Given the description of an element on the screen output the (x, y) to click on. 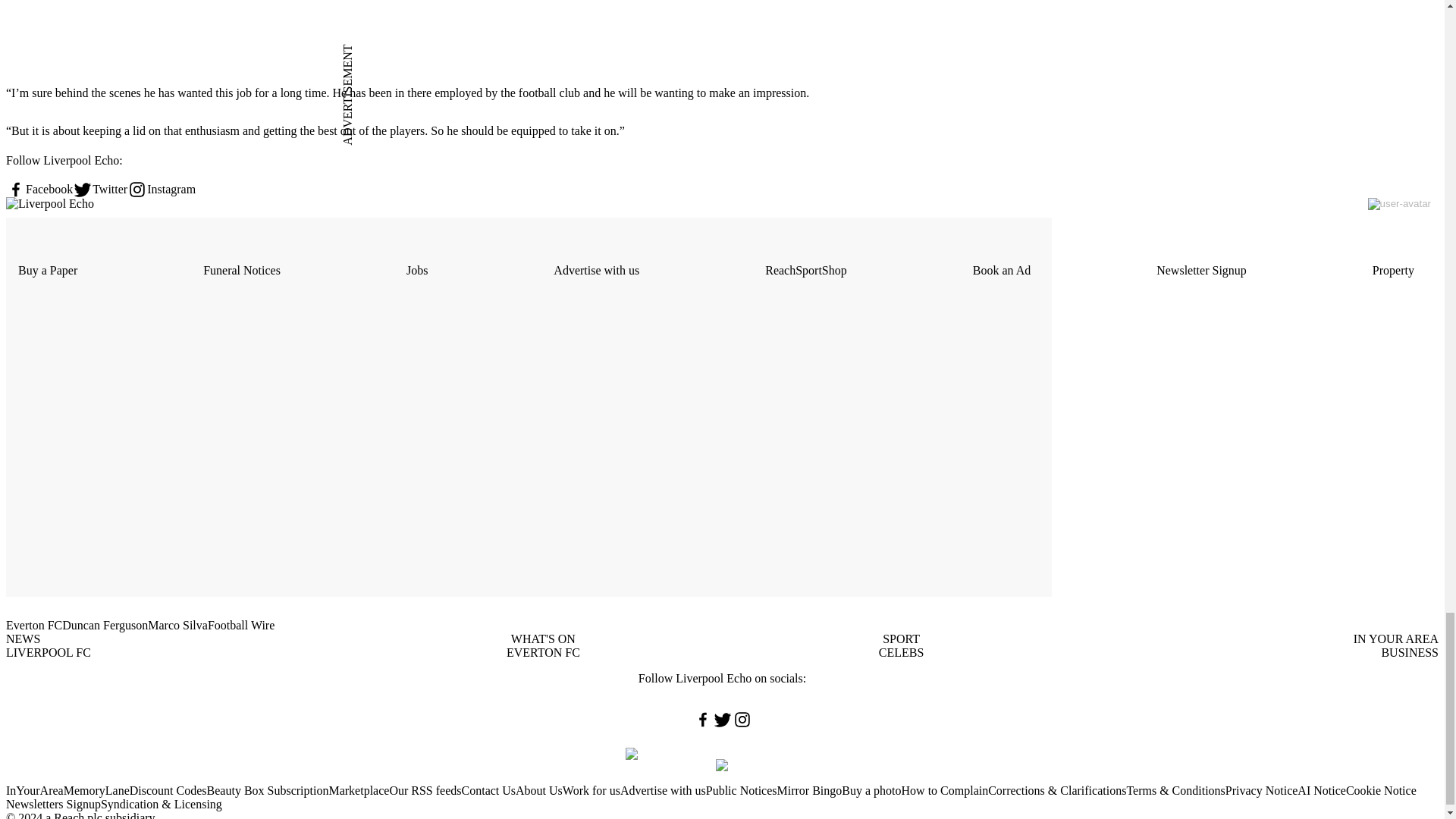
Facebook (38, 189)
Twitter (100, 189)
Instagram (161, 189)
